Given the description of an element on the screen output the (x, y) to click on. 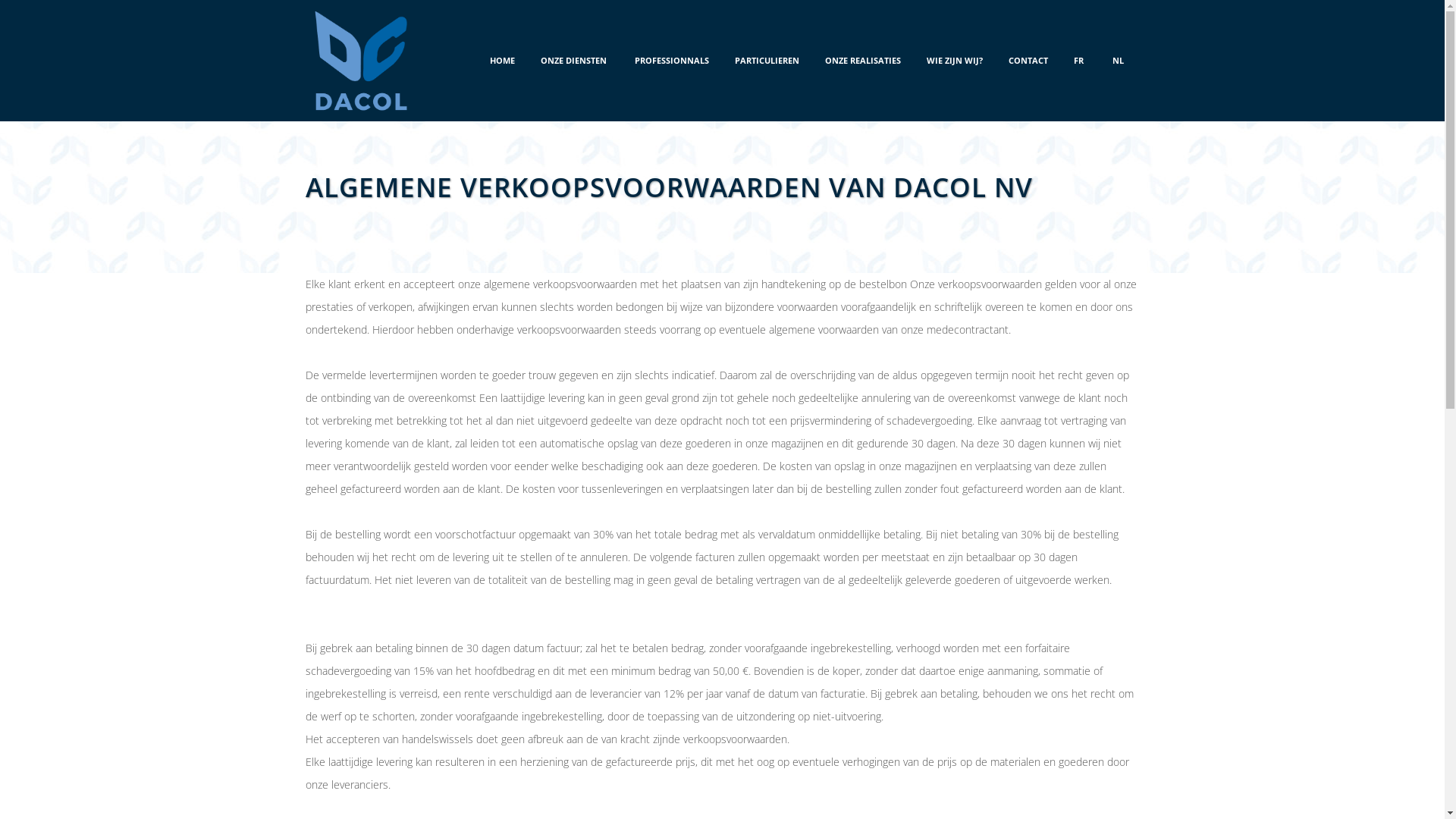
CONTACT Element type: text (1027, 60)
PROFESSIONNALS Element type: text (671, 60)
WIE ZIJN WIJ? Element type: text (953, 60)
HOME Element type: text (501, 60)
NL Element type: text (1119, 60)
ONZE DIENSTEN  Element type: text (574, 60)
ONZE REALISATIES Element type: text (862, 60)
FR Element type: text (1079, 60)
PARTICULIEREN Element type: text (766, 60)
